Given the description of an element on the screen output the (x, y) to click on. 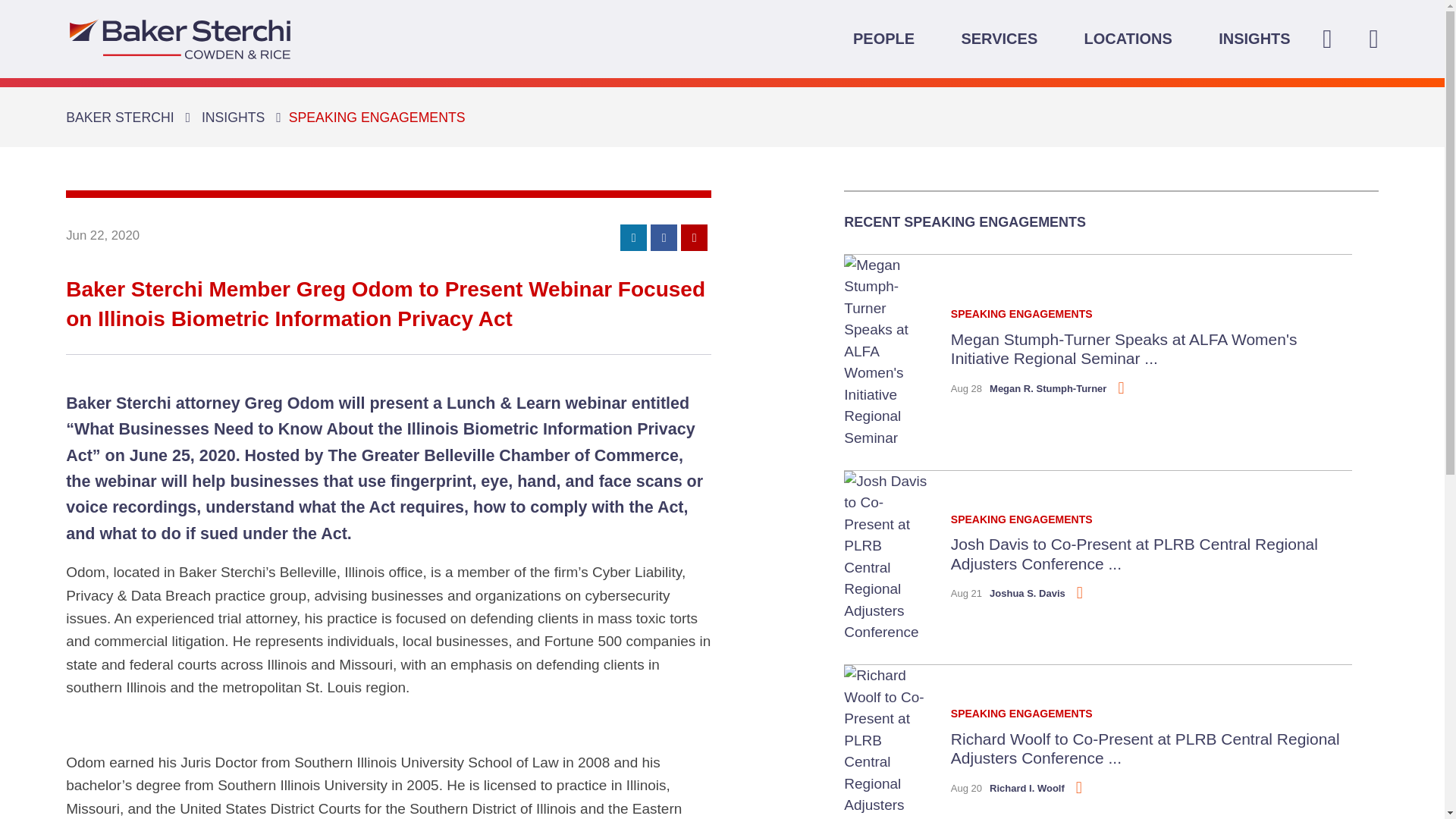
PEOPLE (883, 38)
SERVICES (998, 38)
LOCATIONS (1128, 38)
INSIGHTS (1254, 38)
